Given the description of an element on the screen output the (x, y) to click on. 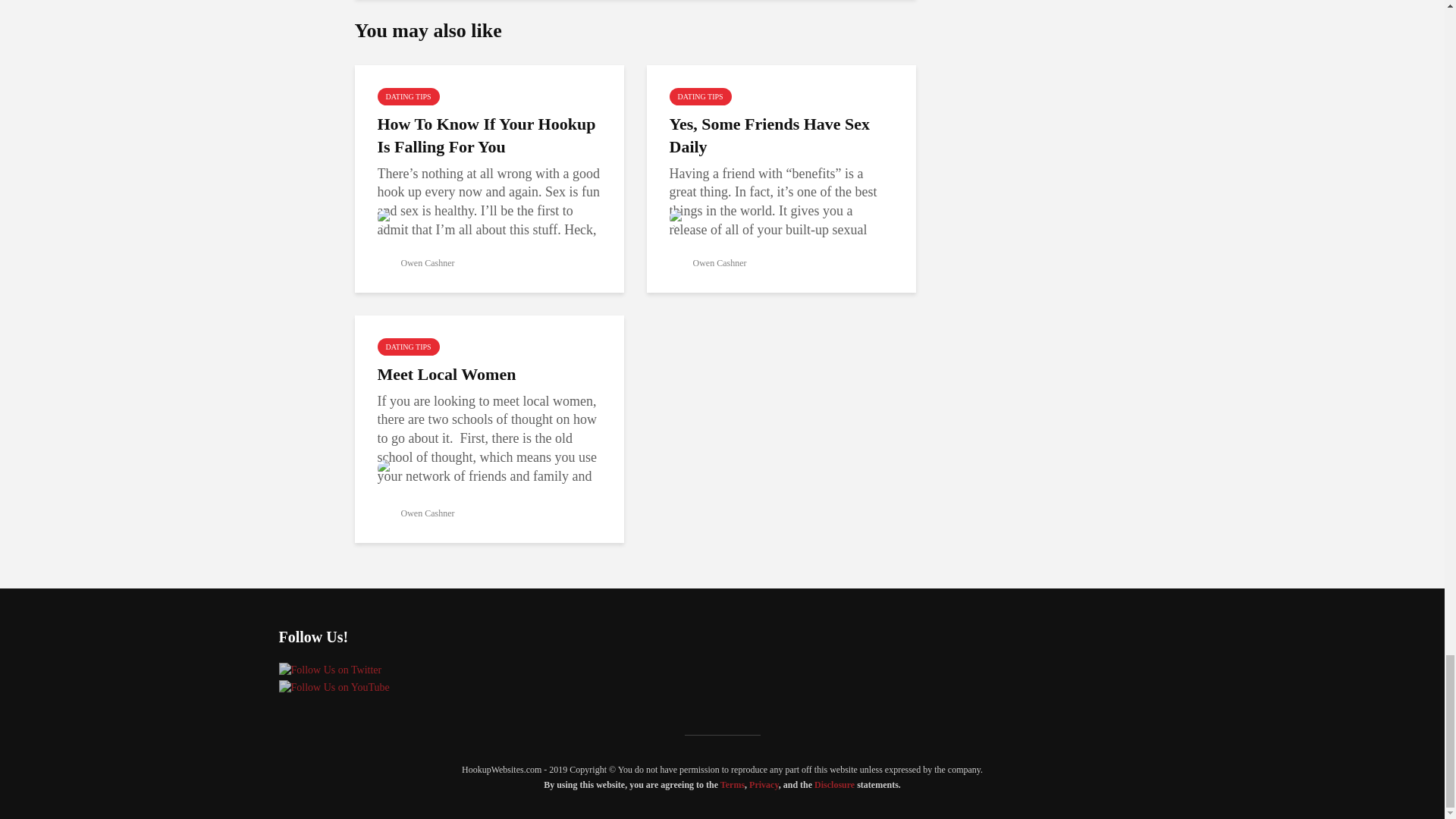
Owen Cashner (706, 262)
DATING TIPS (408, 96)
Follow Us on YouTube (334, 687)
How To Know If Your Hookup Is Falling For You (489, 135)
Meet Local Women (489, 374)
Owen Cashner (415, 512)
Owen Cashner (415, 262)
DATING TIPS (408, 346)
DATING TIPS (699, 96)
Yes, Some Friends Have Sex Daily (780, 135)
Follow Us on Twitter (330, 670)
